Given the description of an element on the screen output the (x, y) to click on. 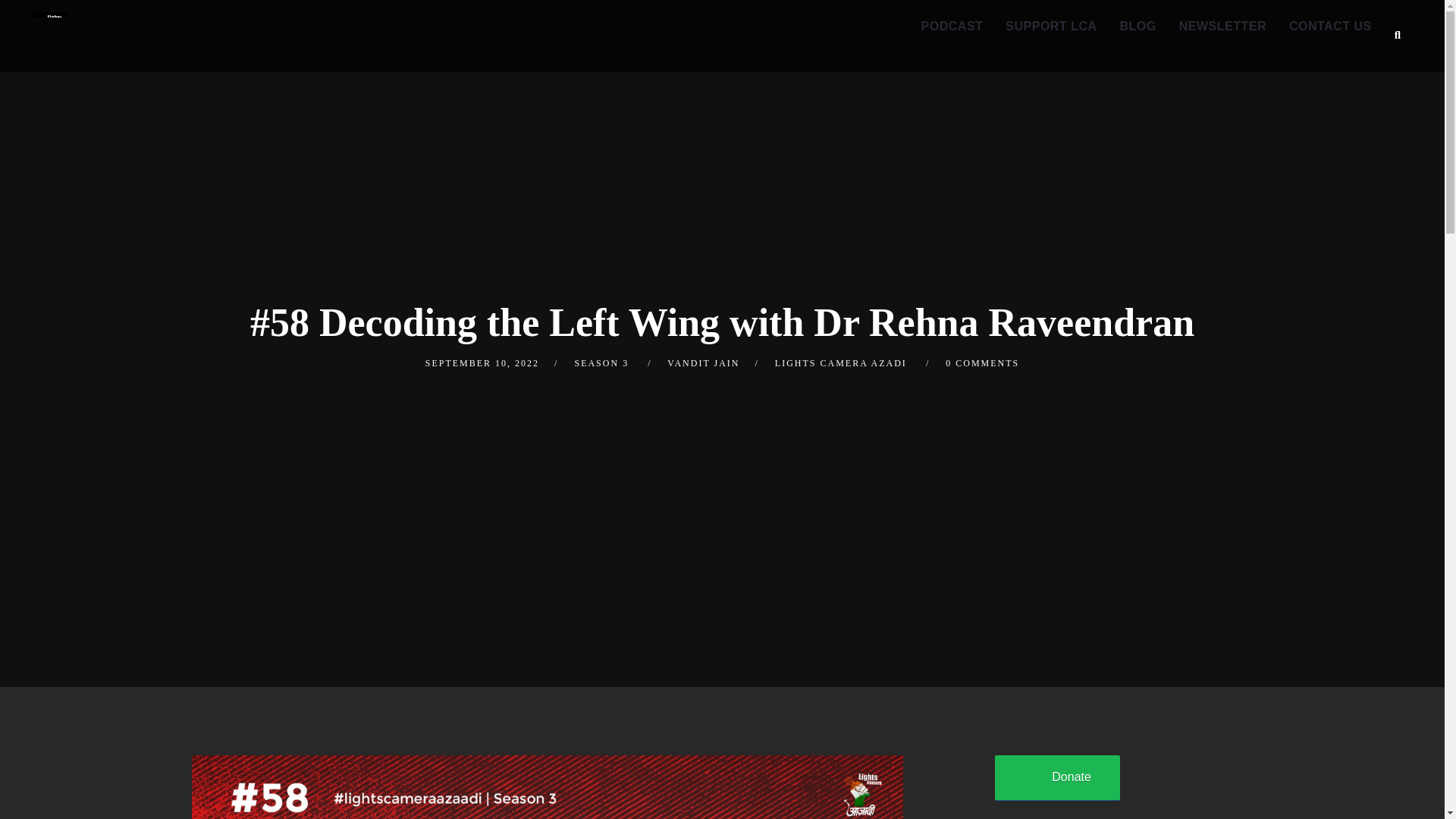
VANDIT JAIN (702, 362)
BLOG (1137, 26)
Submit (29, 20)
NEWSLETTER (1222, 26)
SUPPORT LCA (1051, 26)
PODCAST (952, 26)
Submit (32, 22)
Donate (1056, 777)
0 COMMENTS (981, 362)
CONTACT US (1330, 26)
